Given the description of an element on the screen output the (x, y) to click on. 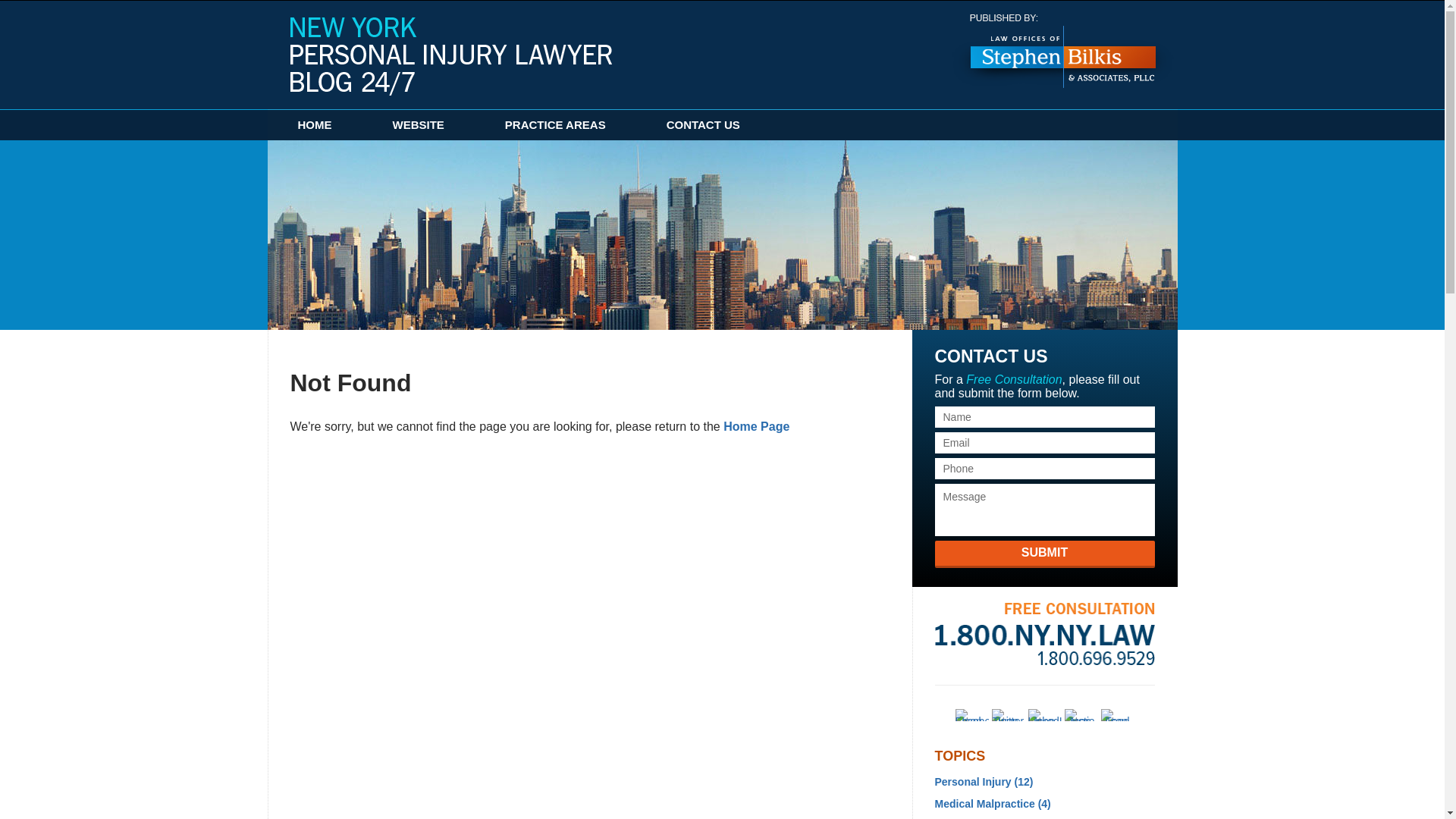
LinkedIn (1044, 715)
PRACTICE AREAS (555, 124)
Justia (1080, 715)
Home Page (756, 426)
WEBSITE (418, 124)
Twitter (1008, 715)
Feed (1117, 715)
CONTACT US (703, 124)
SUBMIT (1044, 554)
HOME (313, 124)
